Given the description of an element on the screen output the (x, y) to click on. 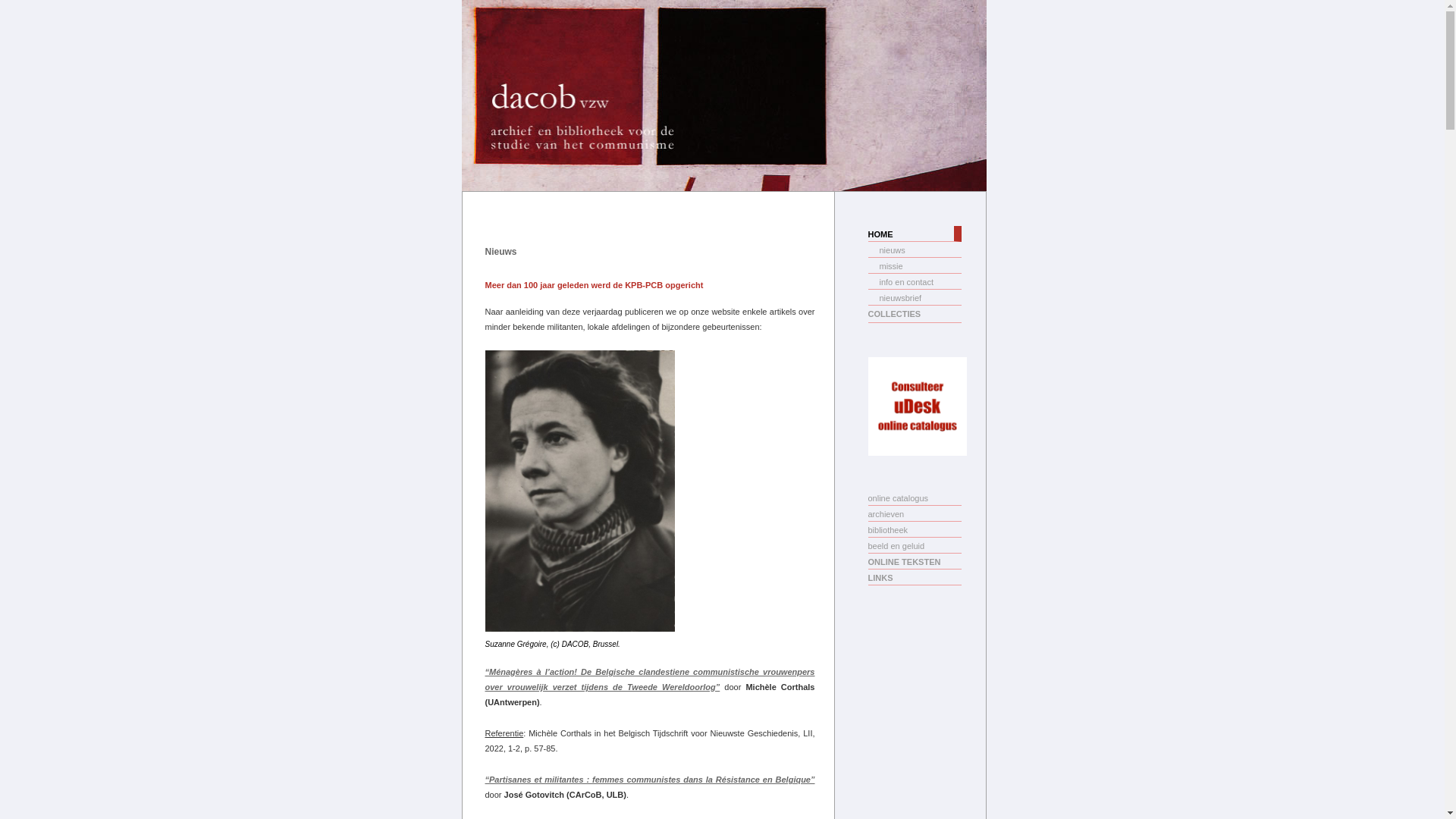
bibliotheek Element type: text (913, 529)
ONLINE TEKSTEN Element type: text (913, 561)
HOME Element type: text (913, 233)
LINKS Element type: text (913, 577)
missie Element type: text (913, 265)
online catalogus Element type: text (913, 497)
beeld en geluid Element type: text (913, 545)
nieuws Element type: text (913, 249)
nieuwsbrief Element type: text (913, 297)
archieven Element type: text (913, 513)
info en contact Element type: text (913, 281)
